Given the description of an element on the screen output the (x, y) to click on. 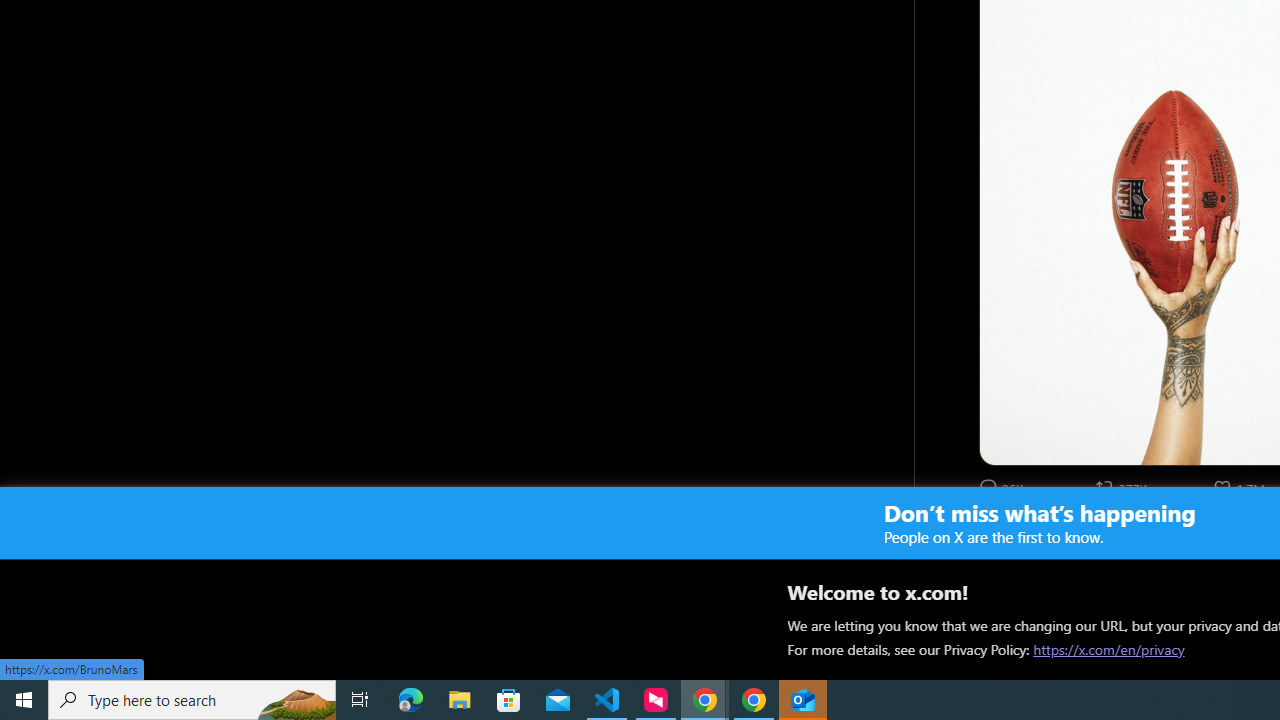
1786987 Likes. Like (1240, 487)
Verified account (1048, 532)
377632 reposts. Repost (1123, 487)
Feb 16, 2023 (1178, 532)
@britishvogue (1151, 554)
Rihanna Verified account (1018, 532)
@rihanna (1093, 532)
26148 Replies. Reply (1003, 487)
https://x.com/en/privacy (1108, 649)
